Given the description of an element on the screen output the (x, y) to click on. 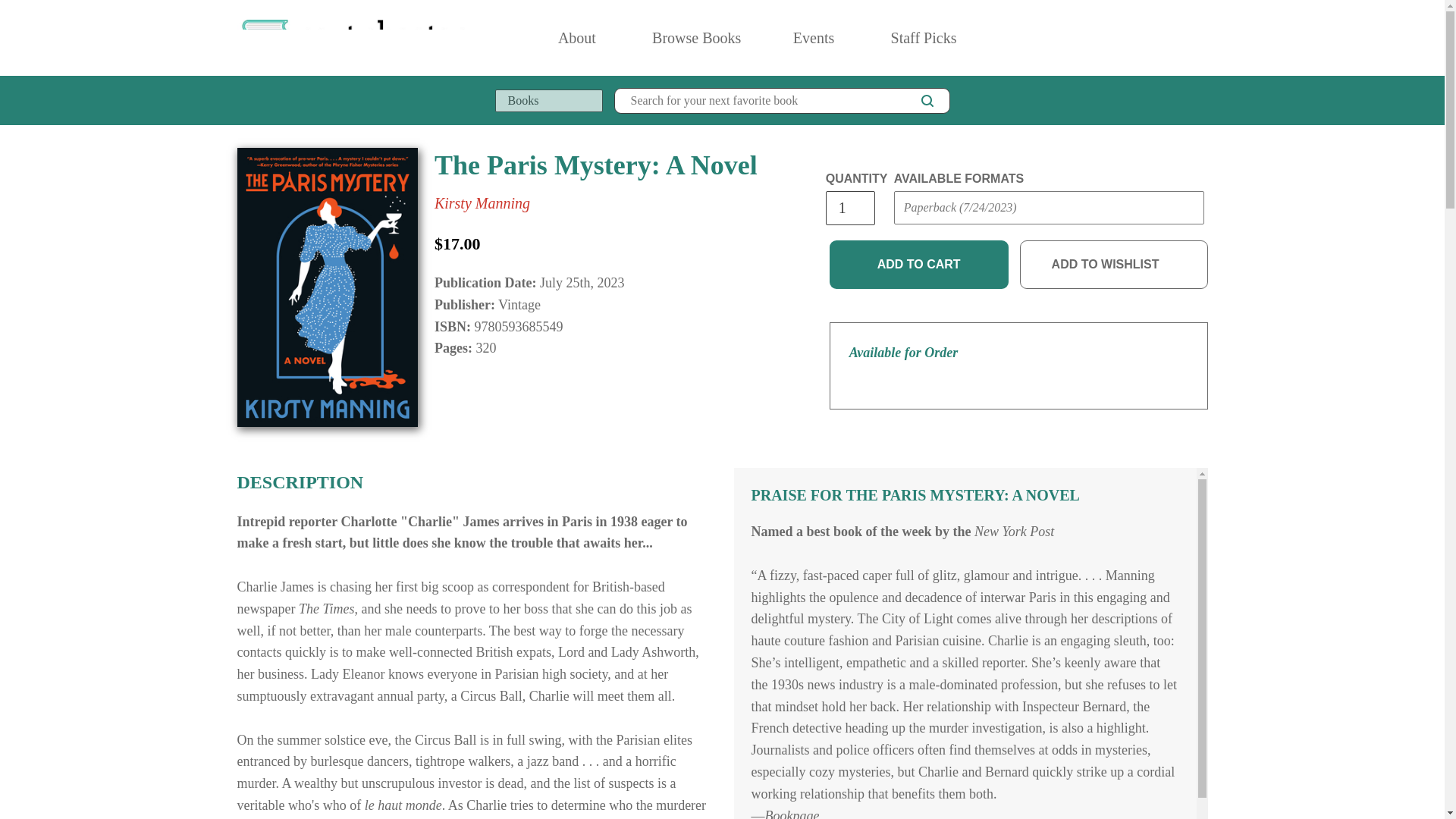
Cart (1201, 37)
Log in (1134, 37)
Wishlists (1168, 37)
Events (813, 38)
Add to cart (919, 264)
SEARCH (926, 100)
Wishlist (1168, 37)
1 (850, 207)
Add to cart (919, 264)
